Given the description of an element on the screen output the (x, y) to click on. 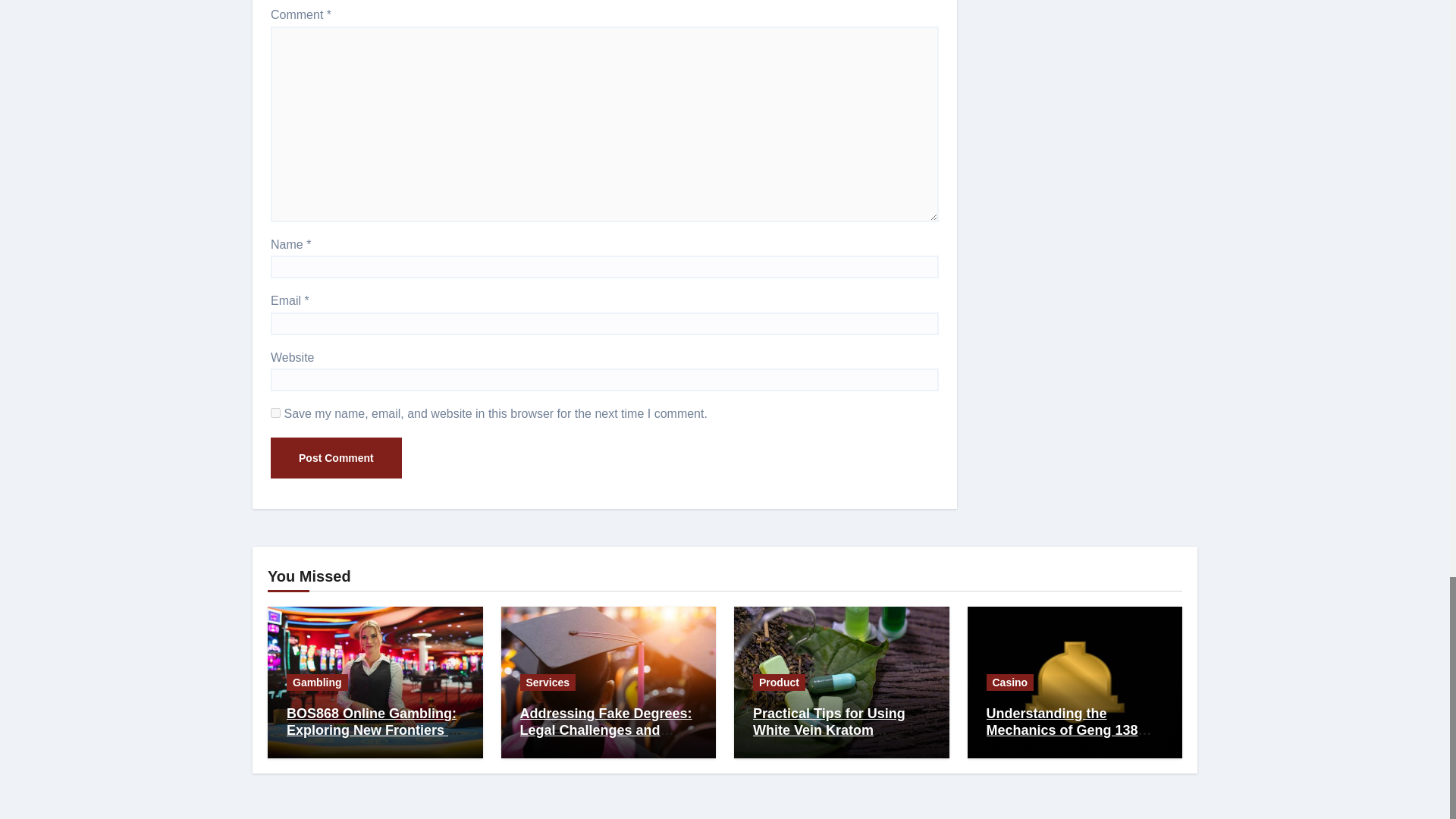
yes (275, 412)
Post Comment (335, 457)
